Given the description of an element on the screen output the (x, y) to click on. 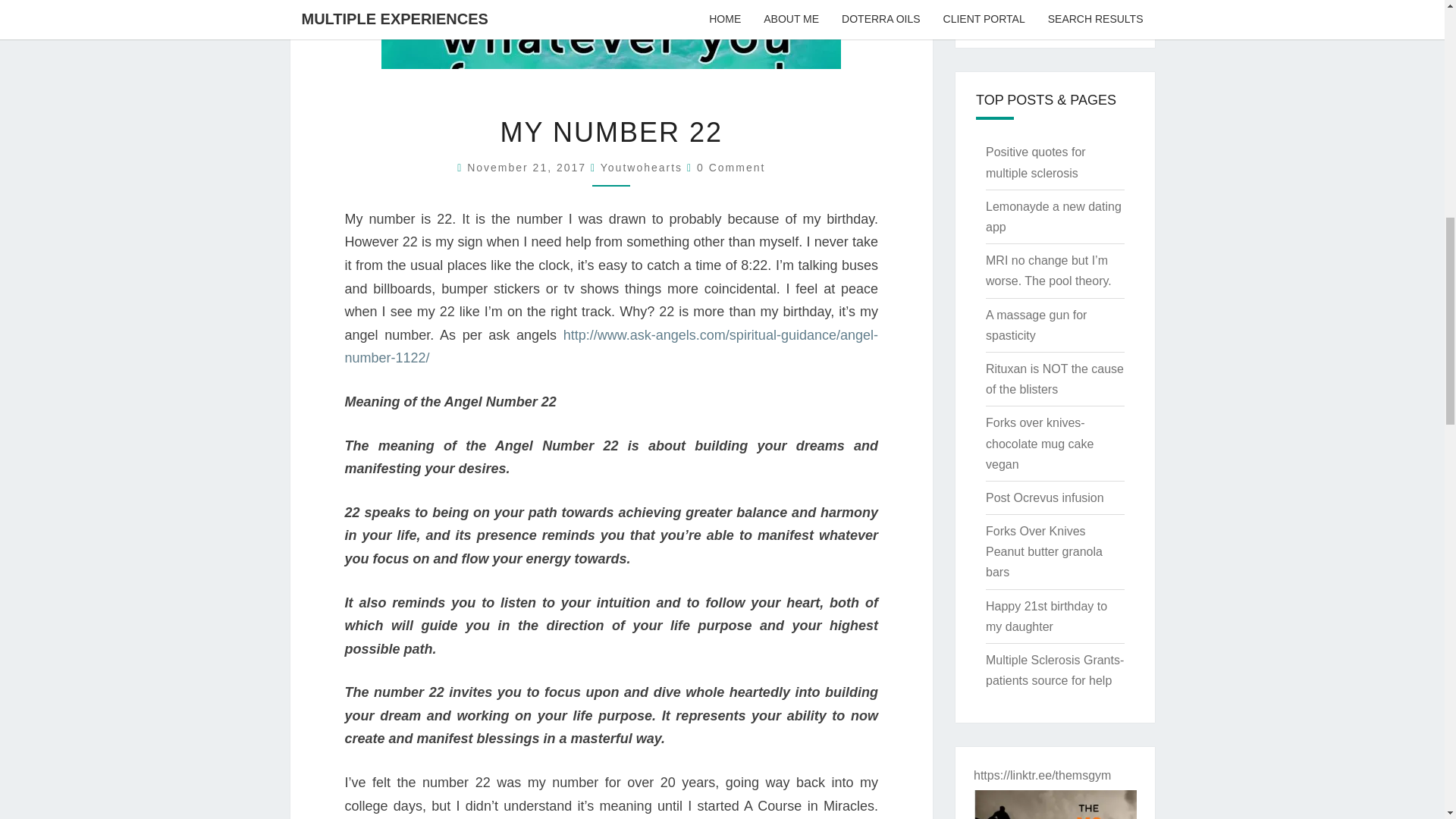
0 Comment (731, 167)
Positive quotes for multiple sclerosis (1035, 162)
8:48 am (529, 167)
View all posts by Youtwohearts (640, 167)
Rituxan is NOT the cause of the blisters (1054, 378)
Lemonayde a new dating app (1053, 216)
Forks over knives-chocolate mug cake vegan (1039, 443)
November 21, 2017 (529, 167)
Youtwohearts (640, 167)
A massage gun for spasticity (1035, 325)
